Given the description of an element on the screen output the (x, y) to click on. 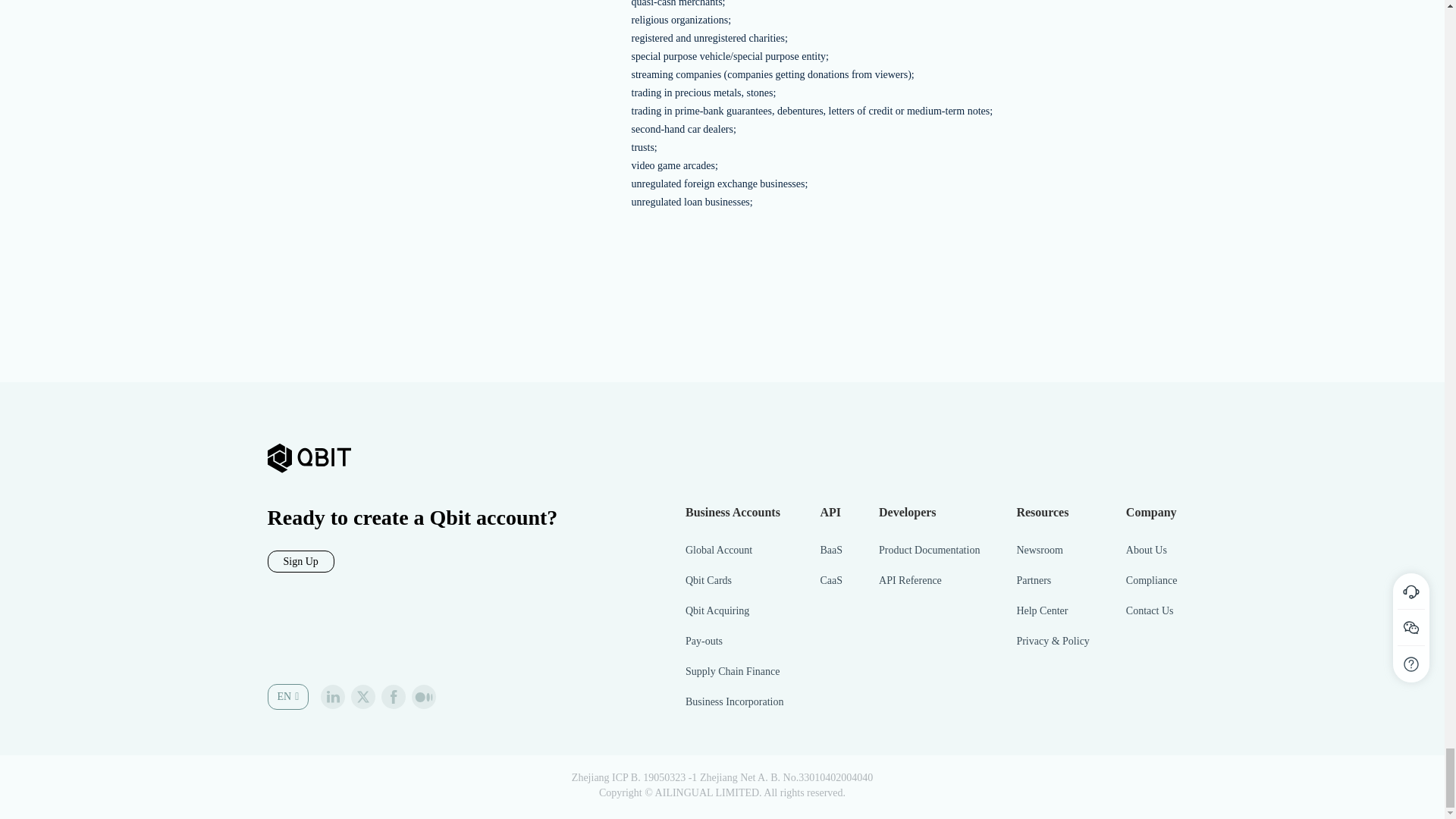
Partners (1052, 580)
Pay-outs (734, 641)
Sign Up (299, 561)
CaaS (831, 580)
Qbit Acquiring (734, 611)
Qbit Cards (734, 580)
Newsroom (1052, 549)
Supply Chain Finance (734, 671)
Business Incorporation (734, 702)
Zhejiang ICP B. 19050323 -1 (634, 777)
Product Documentation (929, 549)
BaaS (831, 549)
Help Center (1052, 611)
Compliance (1151, 580)
API Reference (929, 580)
